Given the description of an element on the screen output the (x, y) to click on. 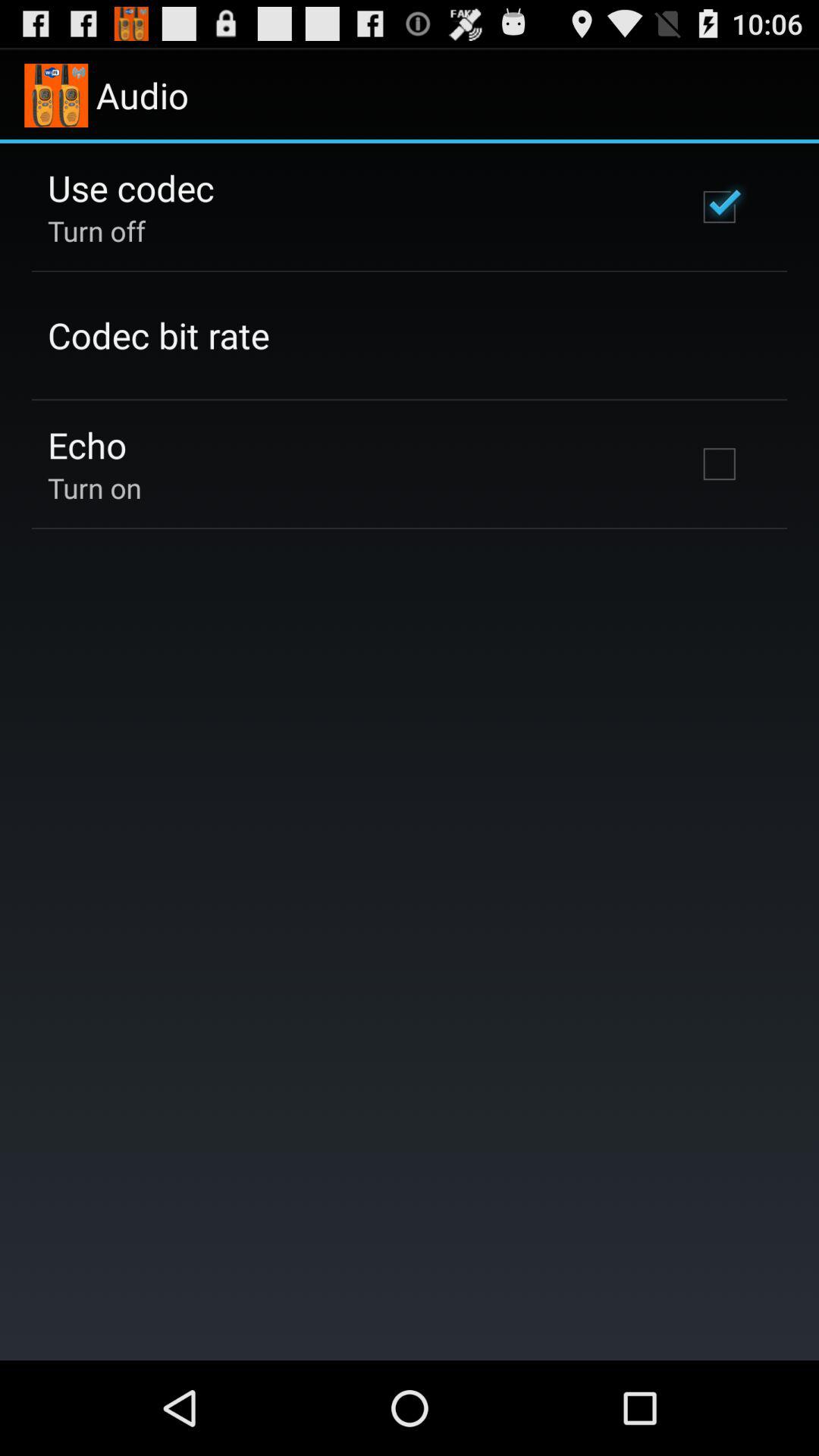
jump until turn off (96, 230)
